Given the description of an element on the screen output the (x, y) to click on. 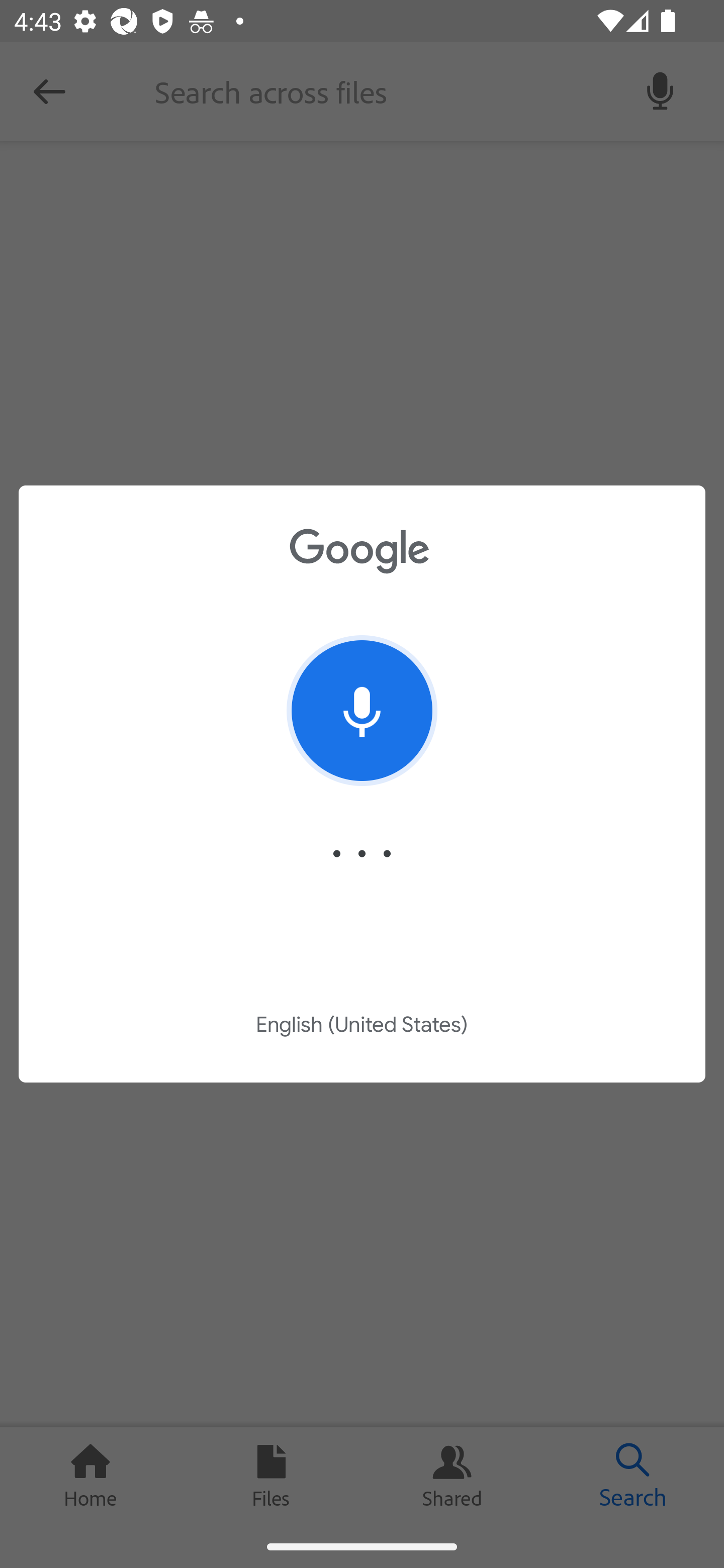
Tap to stop listening (361, 710)
